Given the description of an element on the screen output the (x, y) to click on. 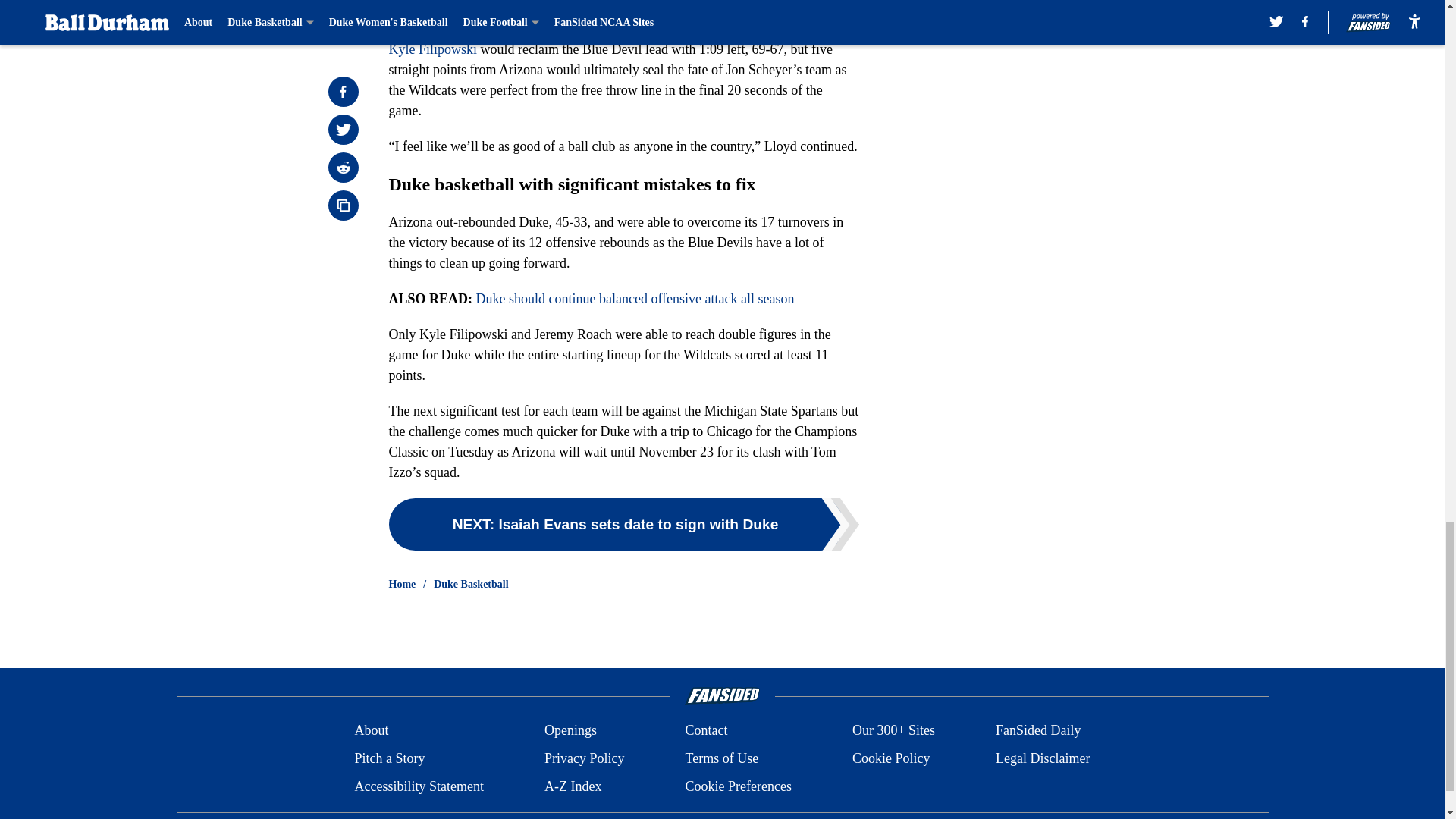
Legal Disclaimer (1042, 758)
FanSided Daily (1038, 730)
NEXT: Isaiah Evans sets date to sign with Duke (623, 523)
Duke Basketball (470, 584)
Pitch a Story (389, 758)
Privacy Policy (584, 758)
About (370, 730)
Terms of Use (721, 758)
Cookie Policy (890, 758)
